Given the description of an element on the screen output the (x, y) to click on. 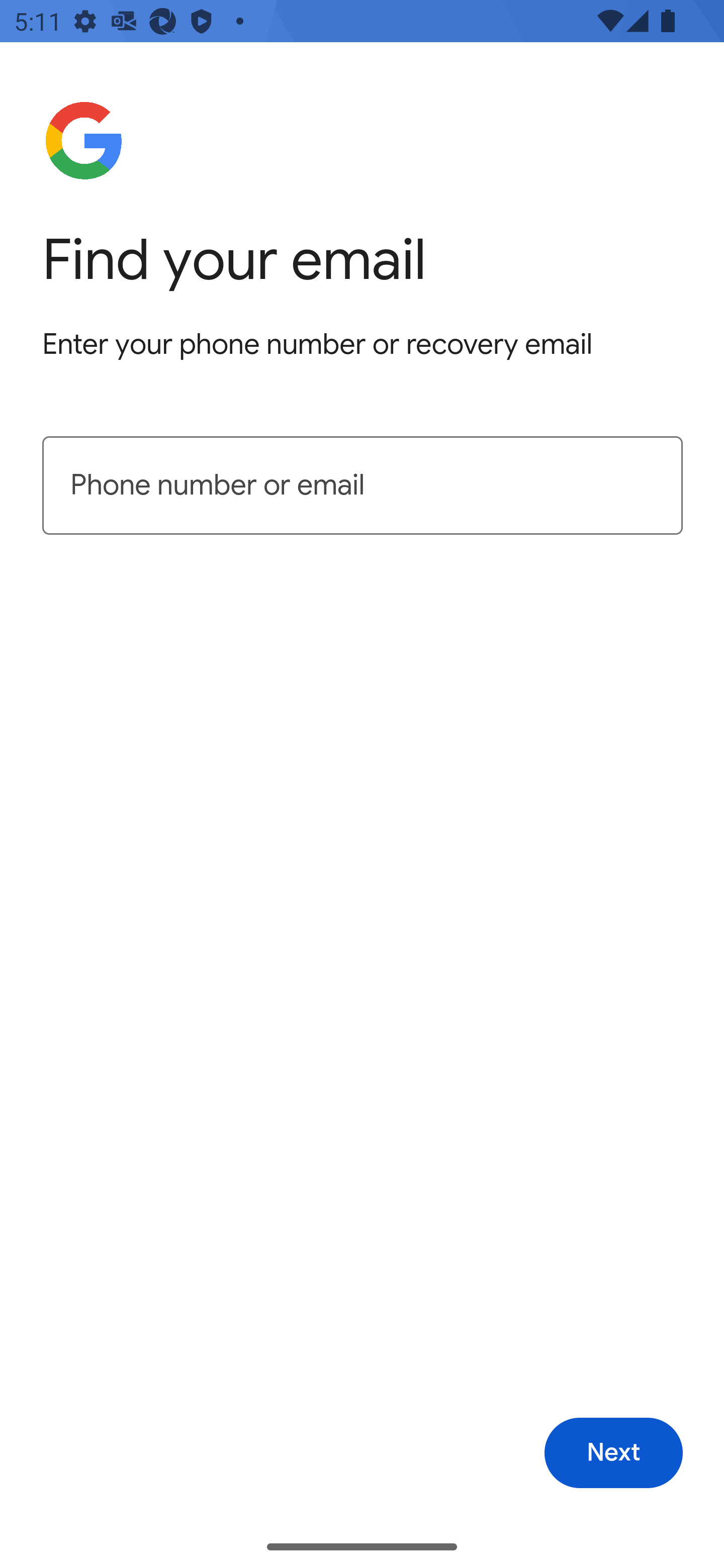
Next (613, 1453)
